Given the description of an element on the screen output the (x, y) to click on. 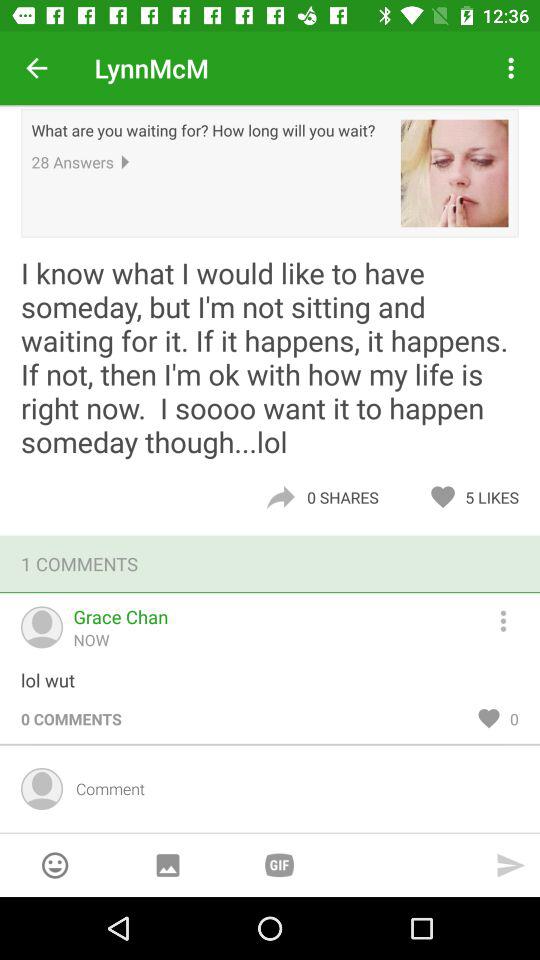
share post (280, 497)
